Given the description of an element on the screen output the (x, y) to click on. 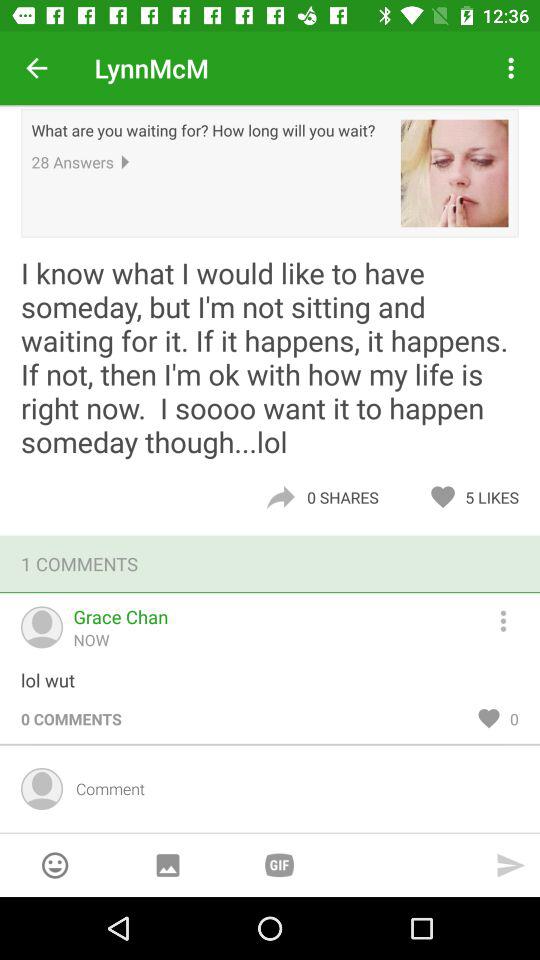
share post (280, 497)
